Given the description of an element on the screen output the (x, y) to click on. 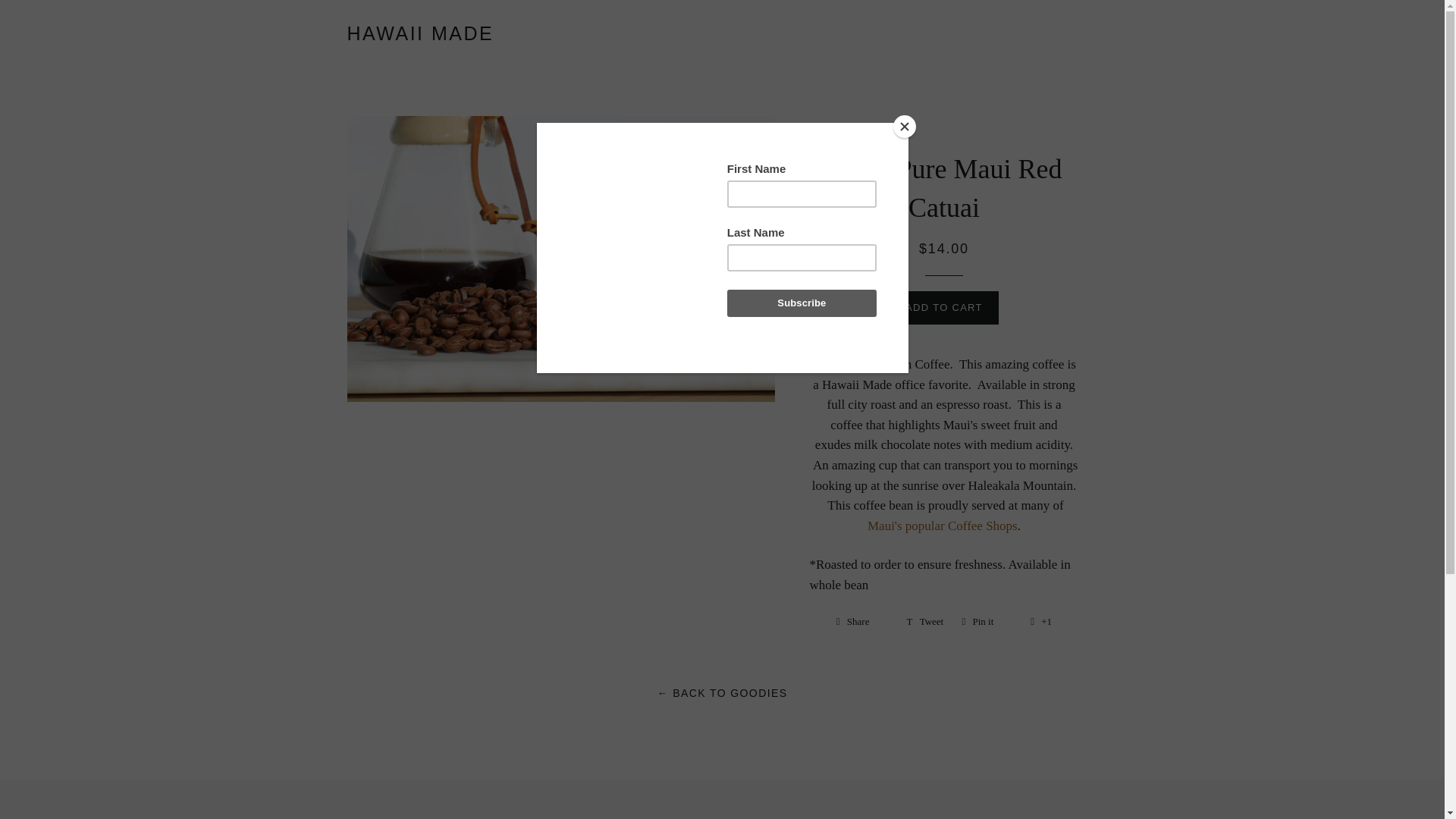
Tweet on Twitter (924, 621)
Share on Facebook (924, 621)
Pin on Pinterest (986, 621)
HAWAII MADE (861, 621)
Best Places to get Coffee on Maui, Maui's Best Coffee Shops (986, 621)
Maui's popular Coffee Shops (421, 33)
ADD TO CART (861, 621)
